Given the description of an element on the screen output the (x, y) to click on. 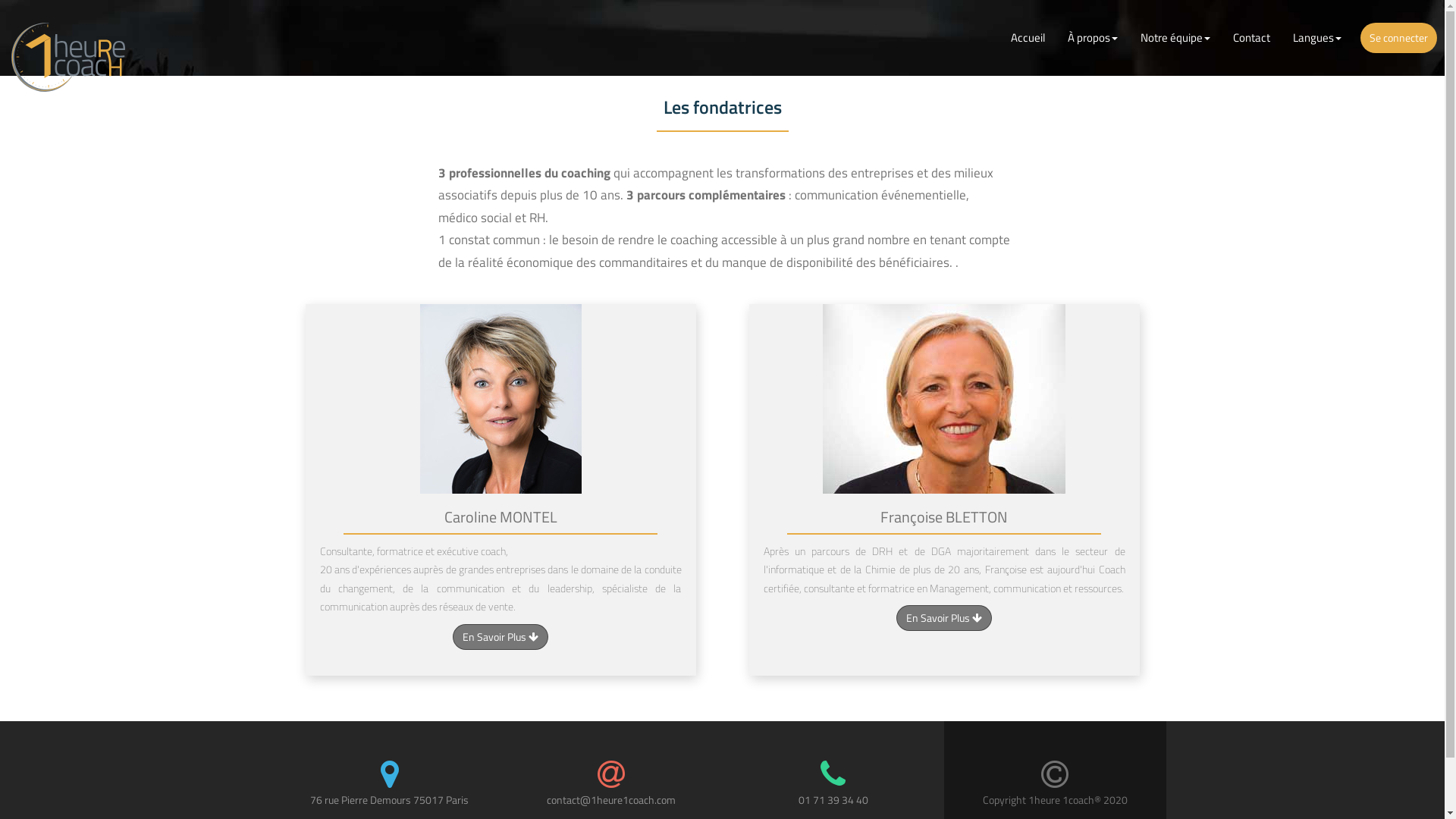
En Savoir Plus Element type: text (943, 617)
76 rue Pierre Demours 75017 Paris Element type: text (389, 799)
01 71 39 34 40 Element type: text (833, 799)
Accueil Element type: text (1027, 37)
contact@1heure1coach.com Element type: text (610, 799)
Langues Element type: text (1316, 37)
Contact Element type: text (1251, 37)
Se connecter Element type: text (1398, 37)
En Savoir Plus Element type: text (500, 636)
